Given the description of an element on the screen output the (x, y) to click on. 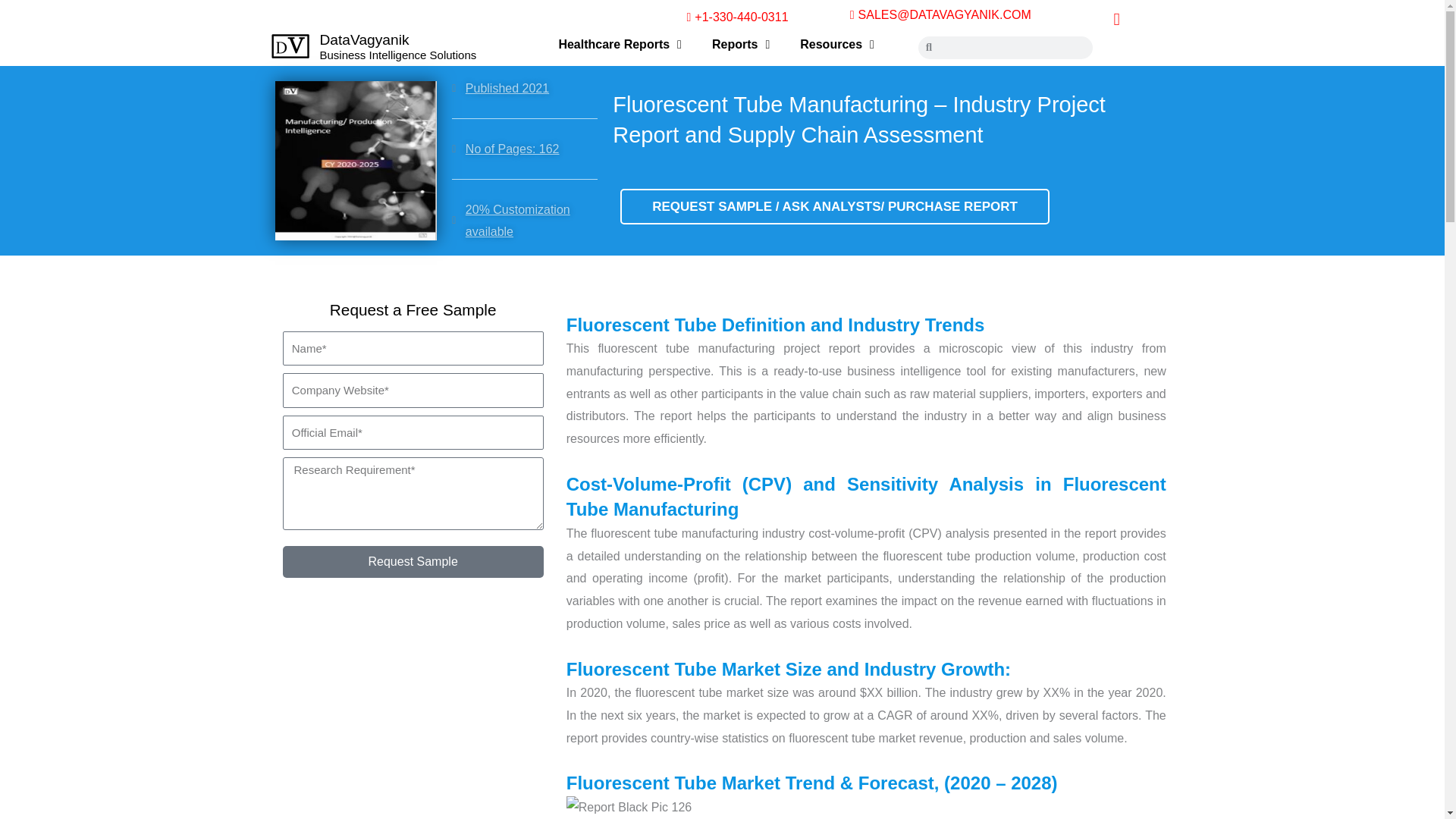
Resources (836, 44)
DataVagyanik (364, 39)
CART (1116, 18)
Healthcare Reports (620, 44)
Reports (740, 44)
Business Intelligence Solutions (398, 54)
